Given the description of an element on the screen output the (x, y) to click on. 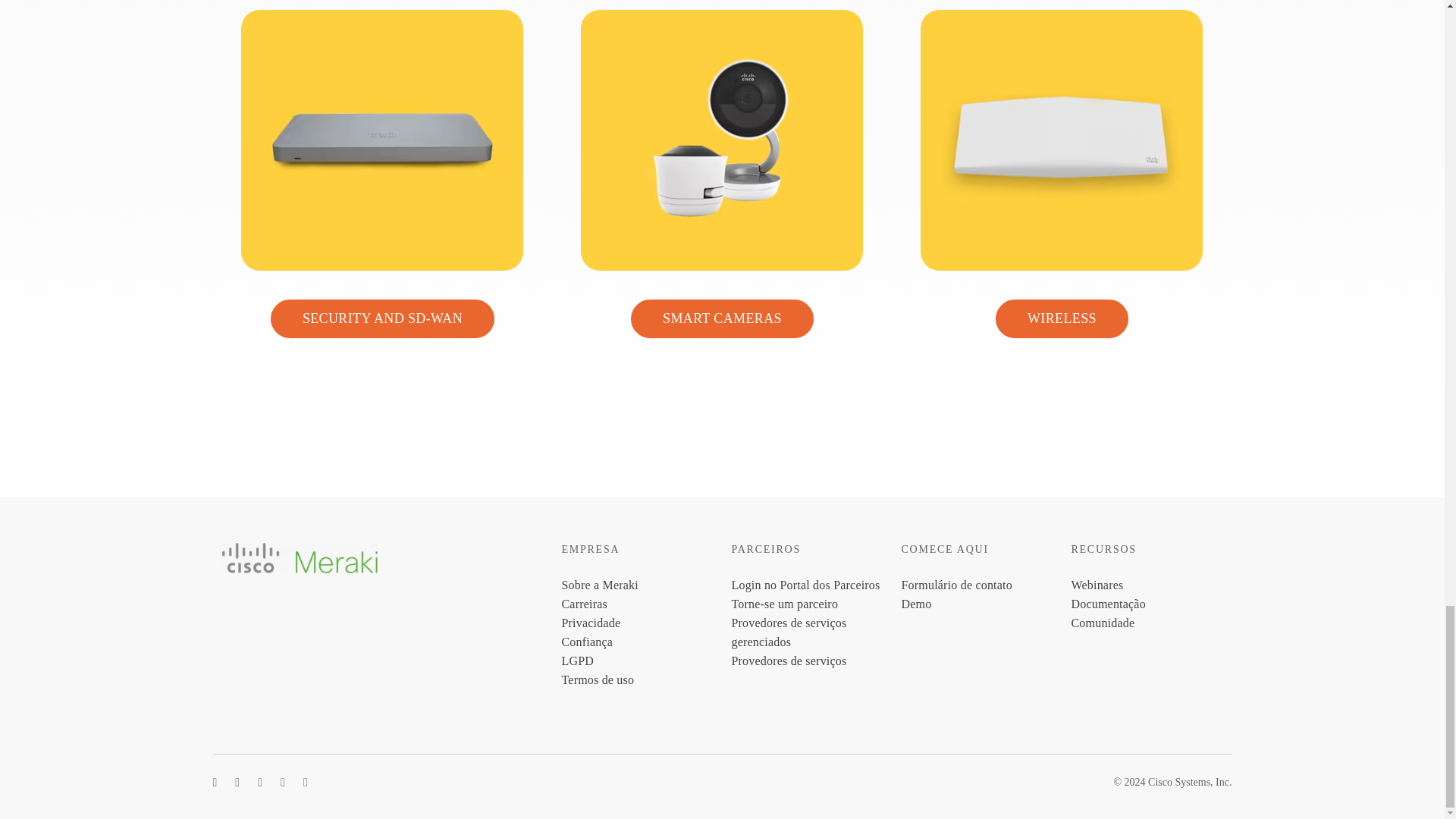
Wireless (1061, 318)
Security and SD-WAN (382, 318)
SMART CAMERAS (721, 318)
